Given the description of an element on the screen output the (x, y) to click on. 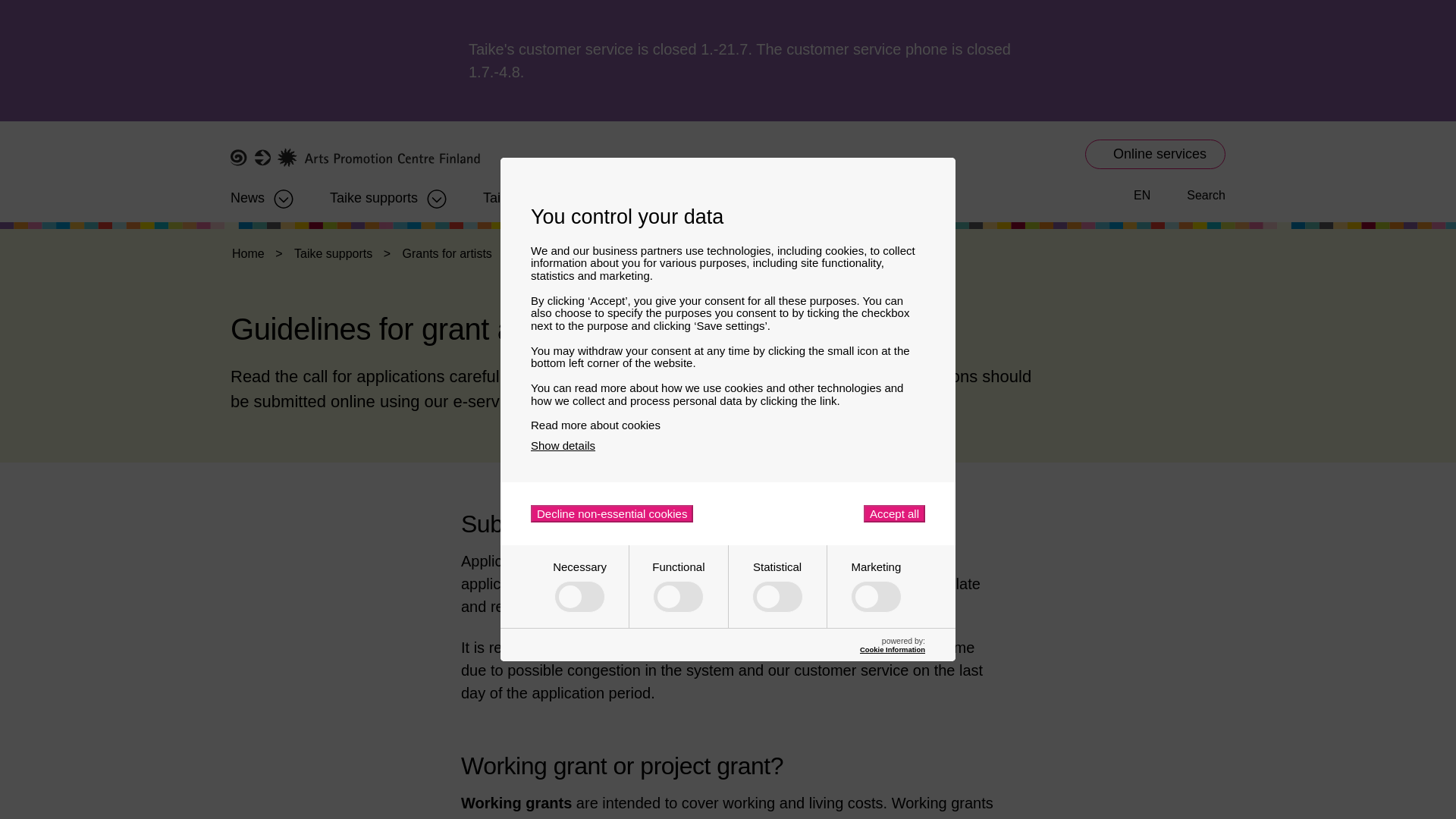
Apurahat ja avustukset (373, 192)
Show details (563, 445)
Cookie Information (892, 649)
Home page (355, 157)
Accept all (893, 513)
Read more about cookies (727, 424)
Decline non-essential cookies (612, 513)
